Given the description of an element on the screen output the (x, y) to click on. 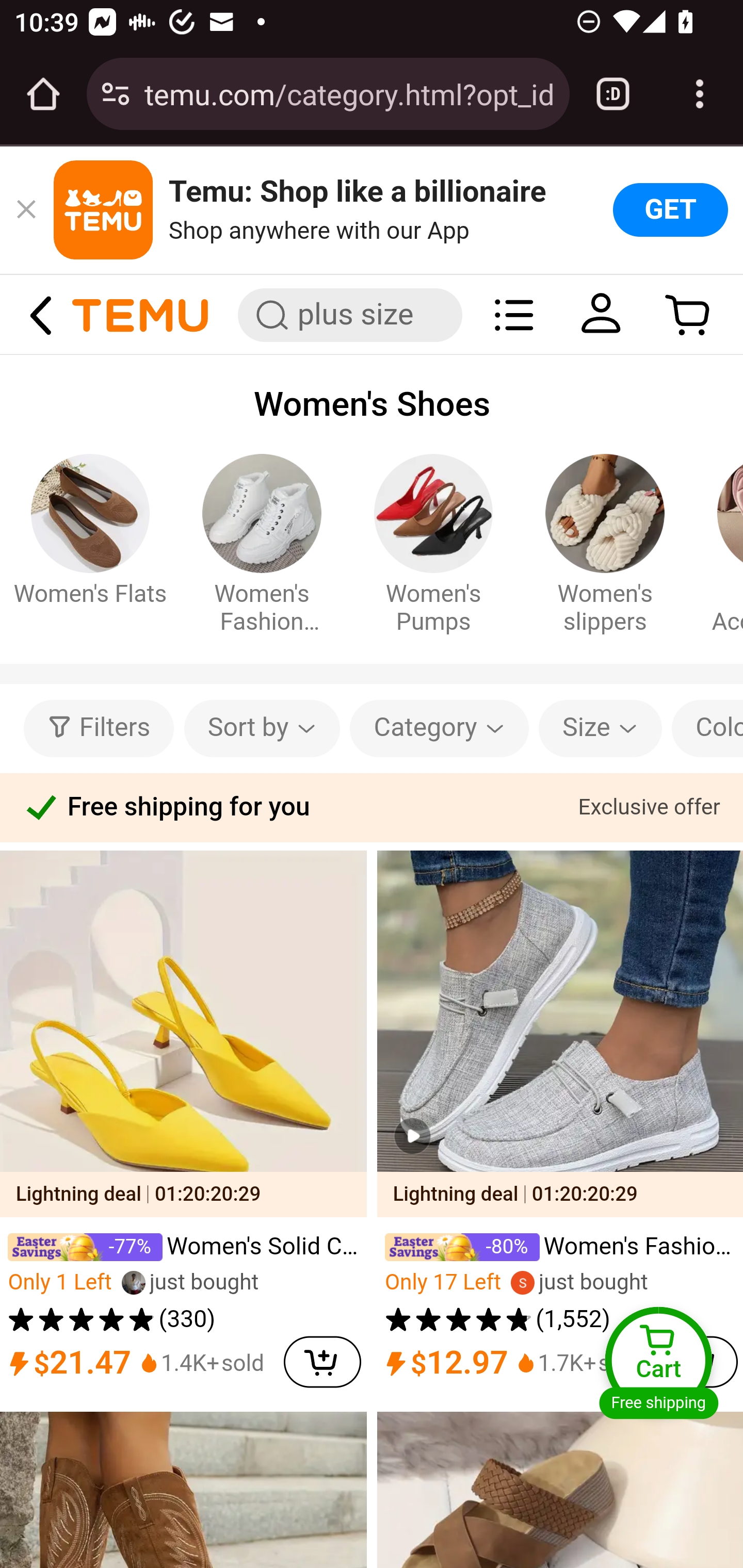
Open the home page (43, 93)
Connection is secure (115, 93)
Switch or close tabs (612, 93)
Customize and control Google Chrome (699, 93)
temu (140, 314)
Categories (513, 314)
You (601, 314)
Cart (687, 314)
Search Temu Search field (349, 314)
Women's Flats (89, 590)
Women's Fashion Sneakers (262, 604)
Women's Pumps (433, 604)
Women's slippers (605, 604)
Cart (658, 1359)
Add to cart (322, 1357)
